Given the description of an element on the screen output the (x, y) to click on. 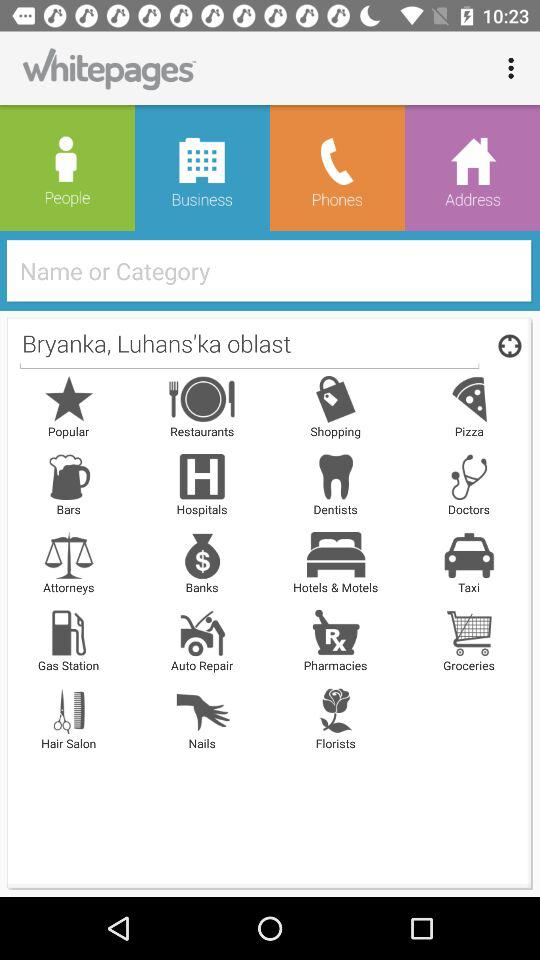
tap bryanka luhans ka (249, 345)
